Given the description of an element on the screen output the (x, y) to click on. 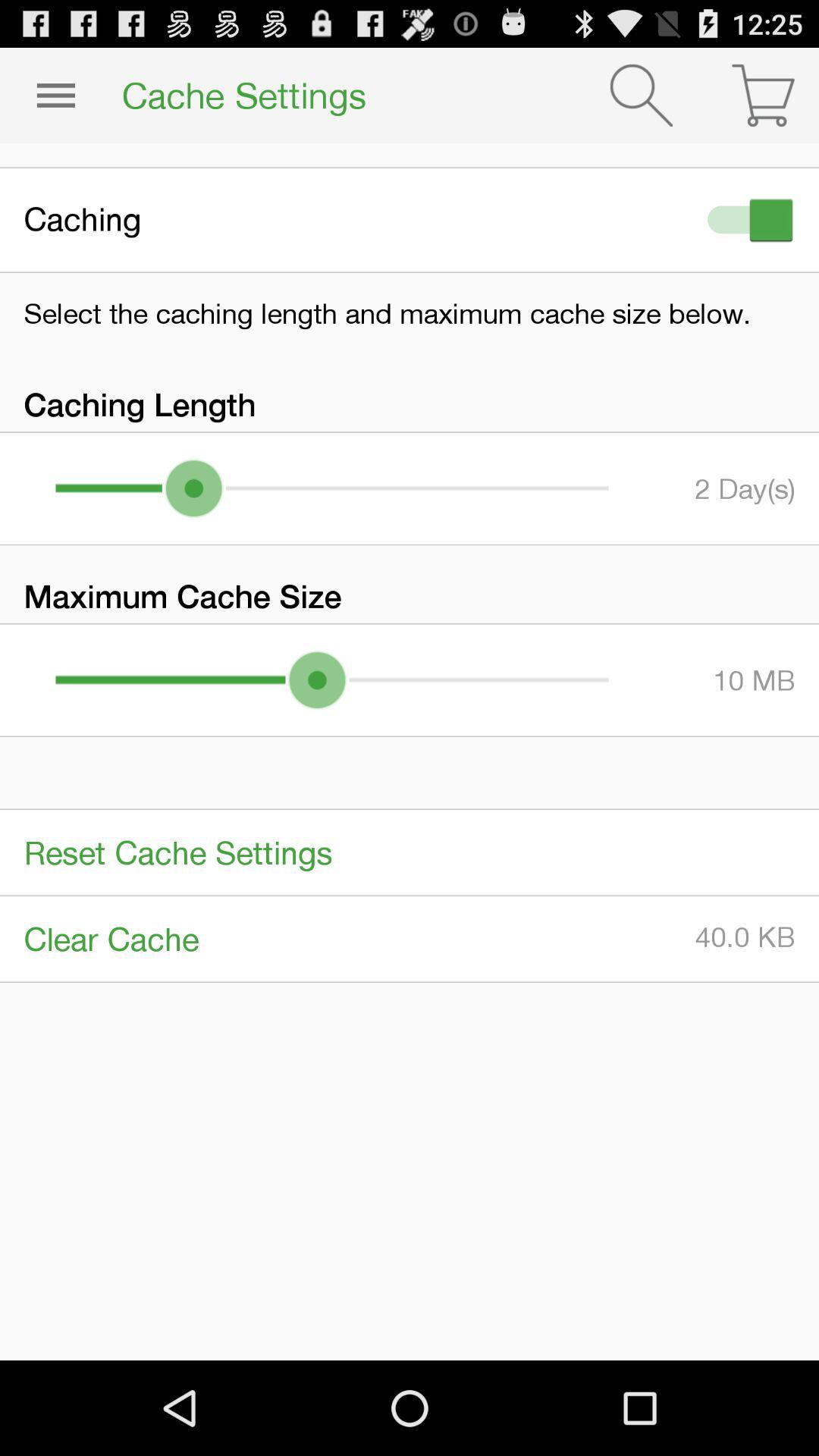
a slide bar from left to right to allow caching (747, 219)
